Given the description of an element on the screen output the (x, y) to click on. 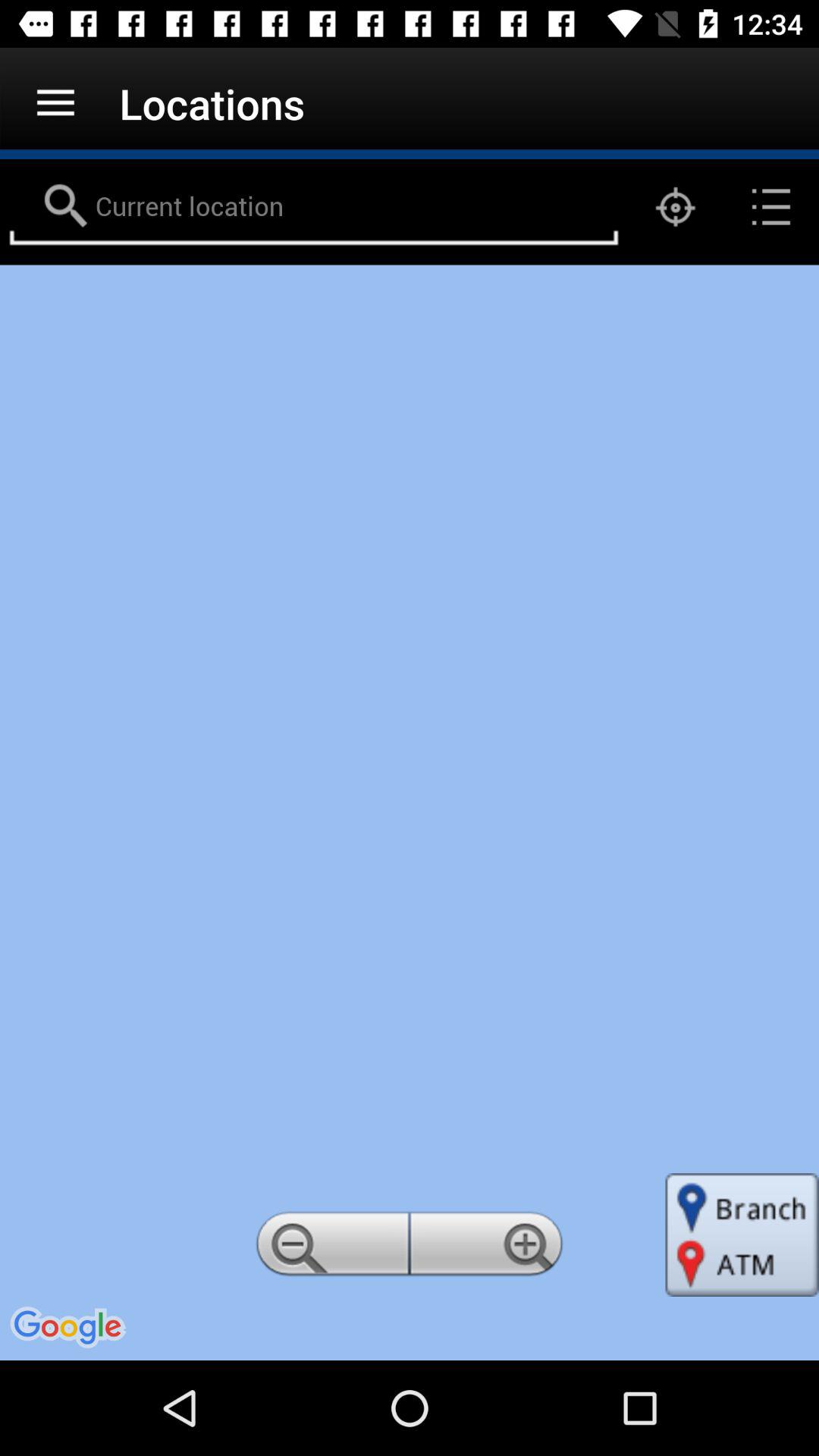
search locations (313, 206)
